Given the description of an element on the screen output the (x, y) to click on. 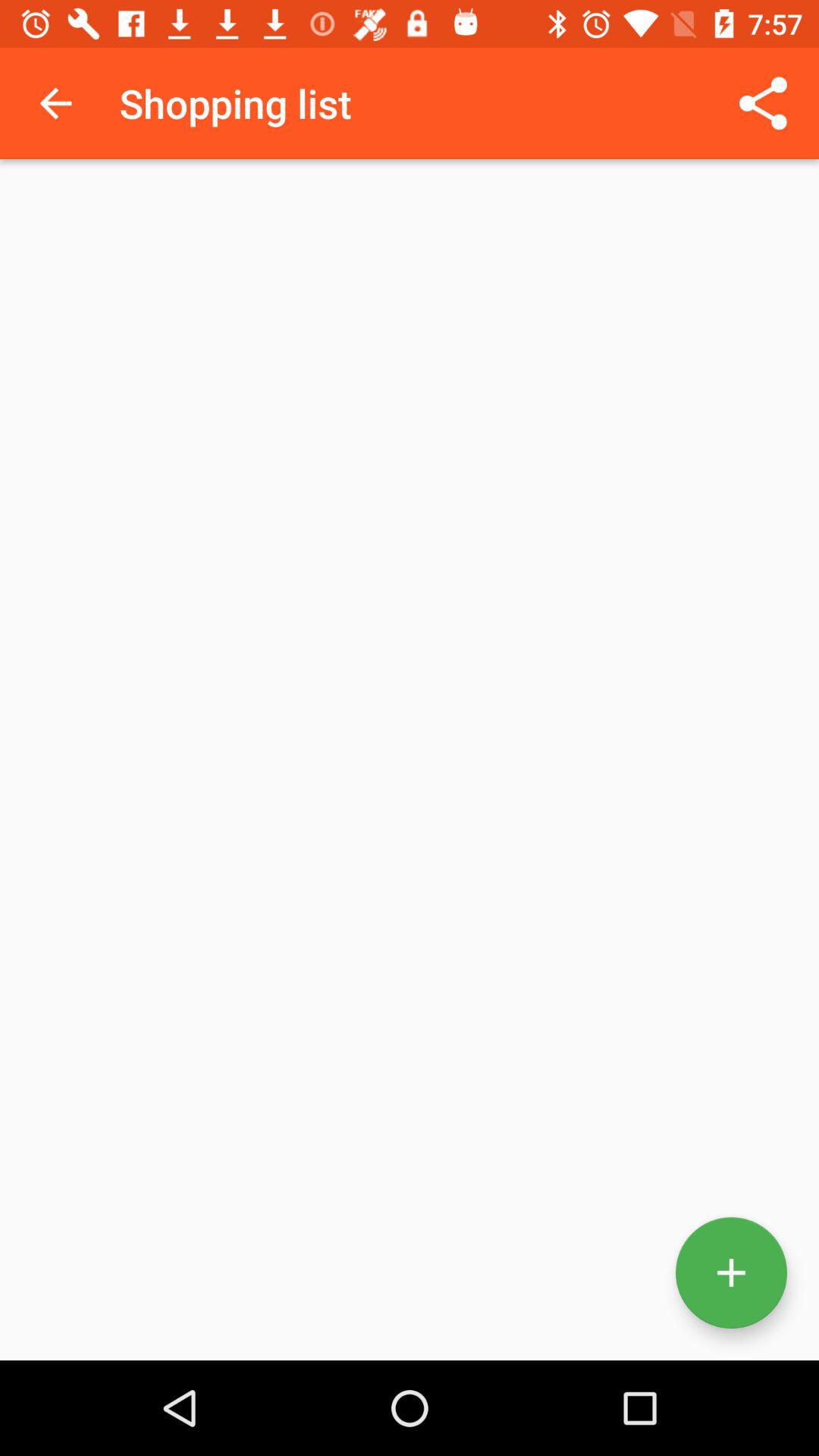
press the icon next to the shopping list (55, 103)
